Given the description of an element on the screen output the (x, y) to click on. 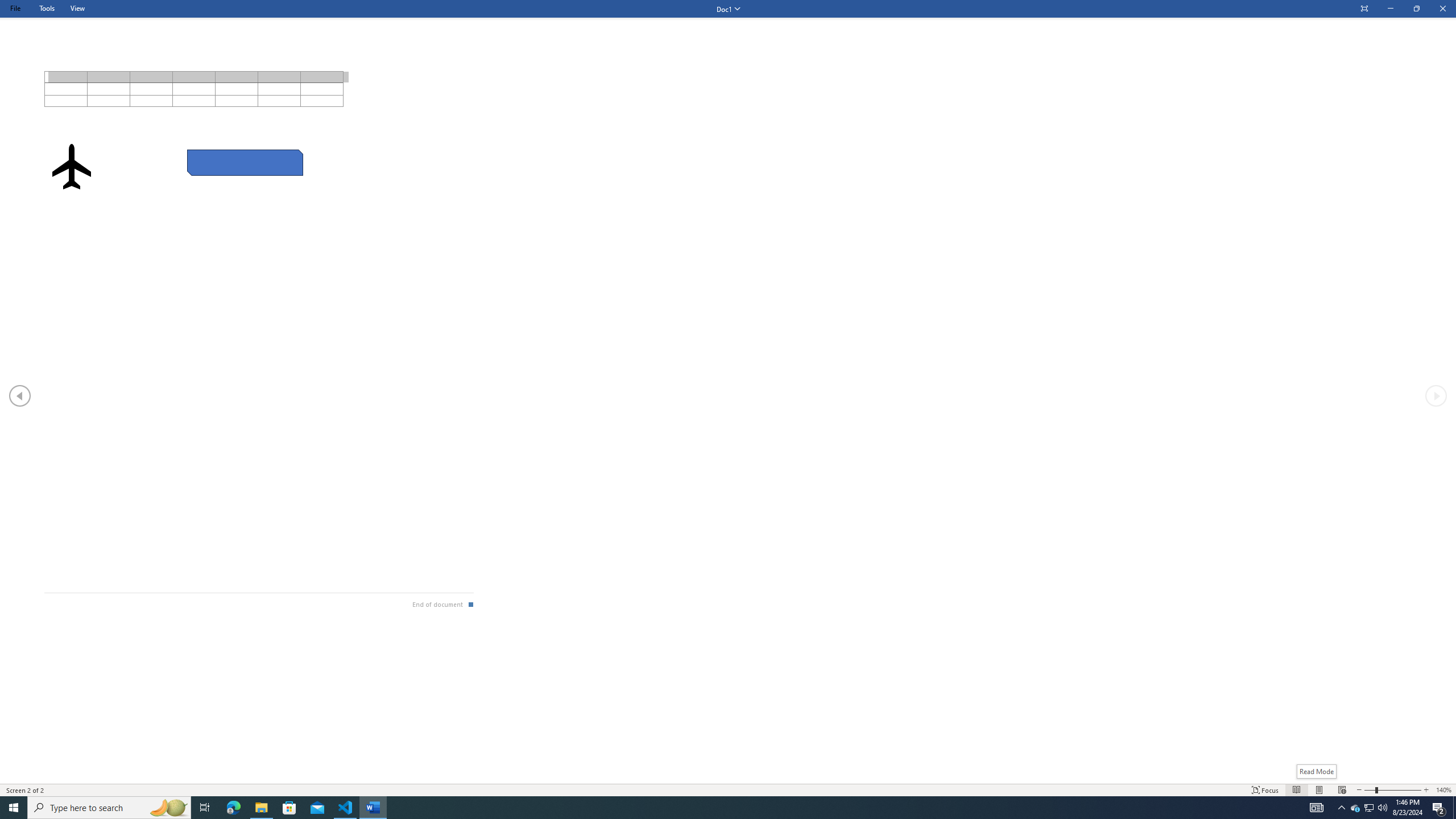
Page Number Screen 2 of 2  (25, 790)
Increase Text Size (1426, 790)
Text Size (1392, 790)
Class: NetUIScrollBar (728, 778)
Tools (46, 8)
Decrease Text Size (1359, 790)
